Given the description of an element on the screen output the (x, y) to click on. 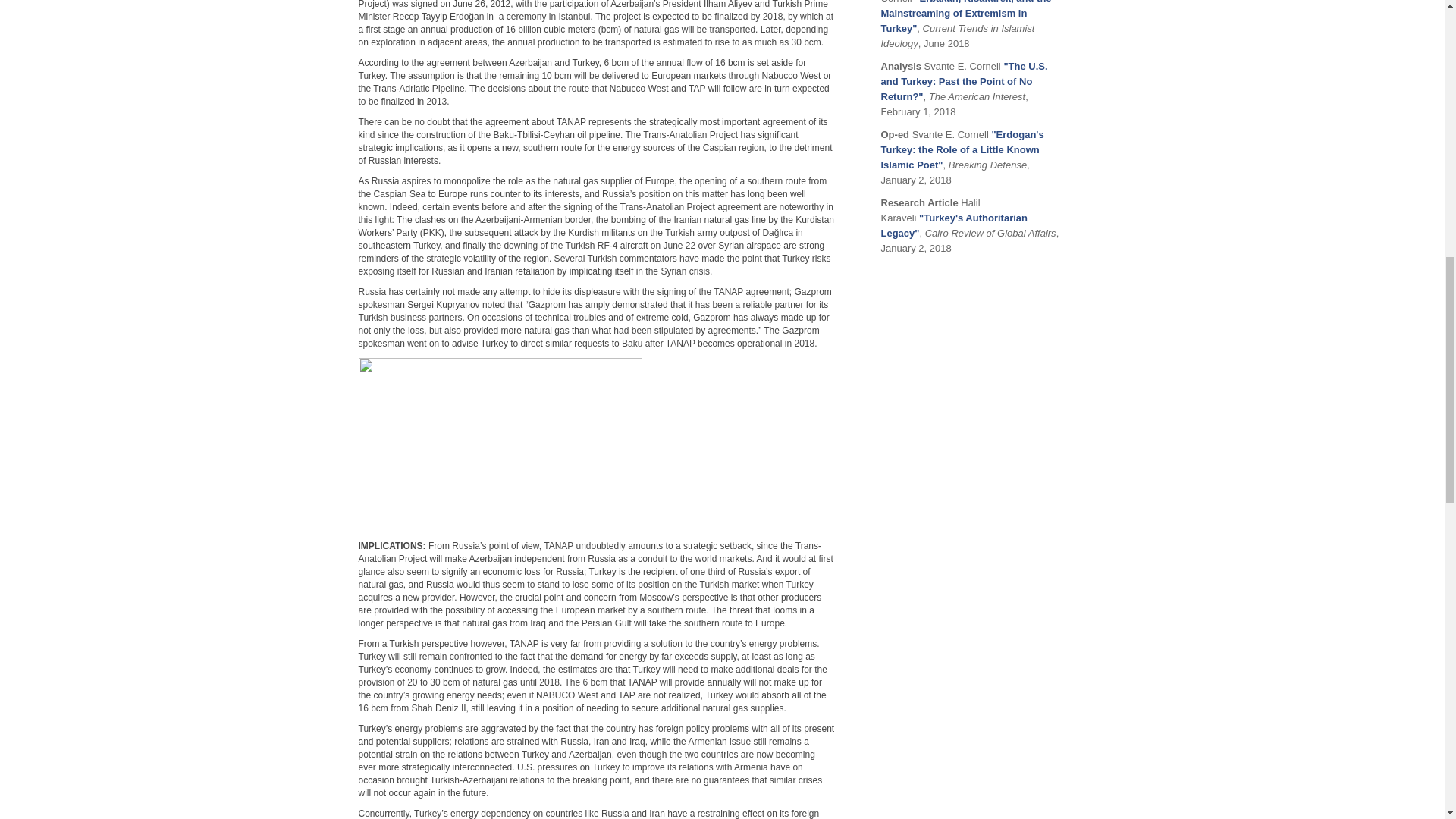
"The U.S. and Turkey: Past the Point of No Return?" (964, 81)
